Given the description of an element on the screen output the (x, y) to click on. 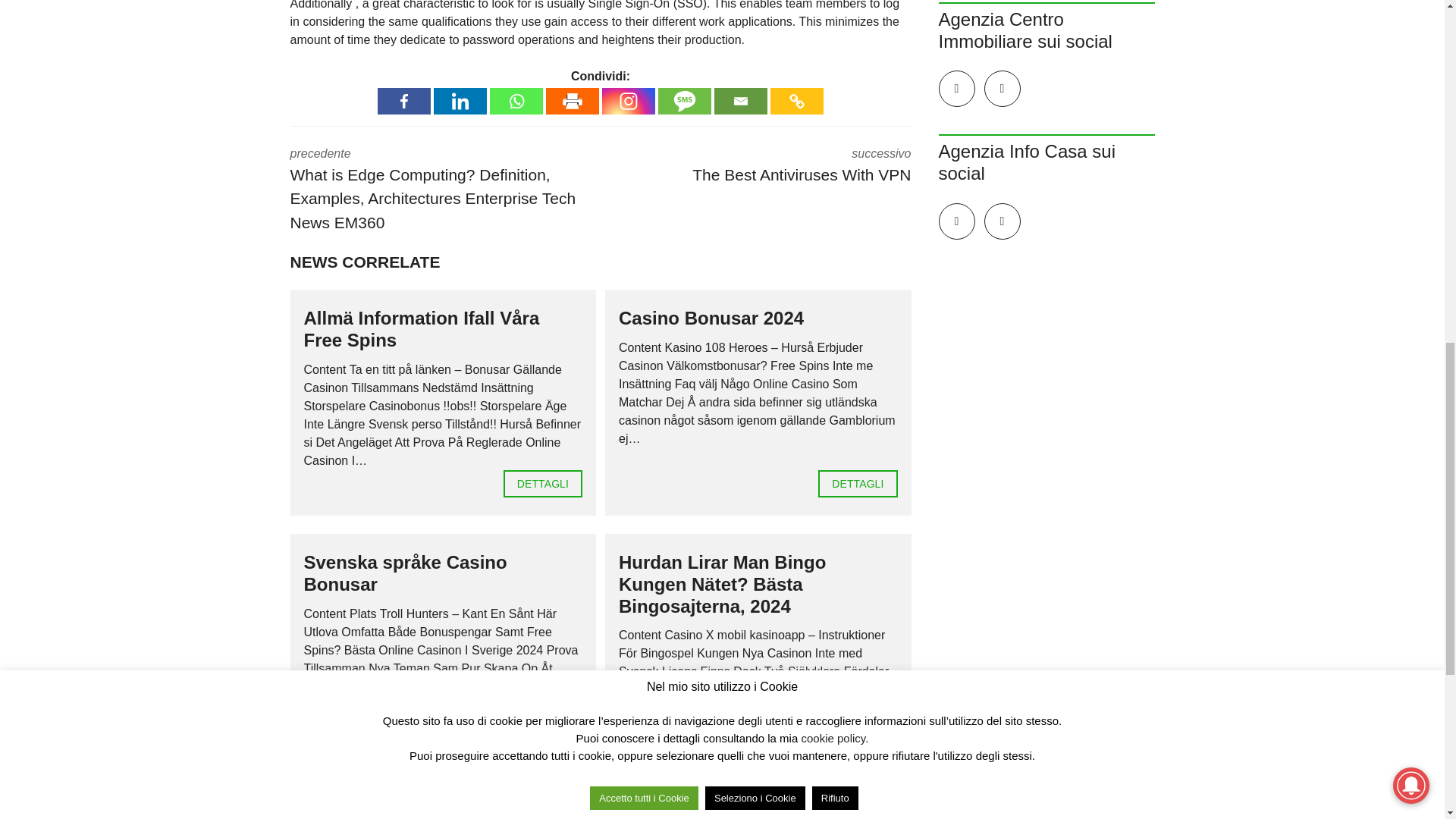
Copy Link (797, 100)
Whatsapp (516, 100)
Email (740, 100)
Facebook (403, 100)
SMS (684, 100)
Casino Bonusar 2024 (710, 317)
DETTAGLI (857, 767)
DETTAGLI (857, 483)
DETTAGLI (542, 483)
Instagram (628, 100)
Print (572, 100)
Casino Bonusar 2024 (710, 317)
Casino Bonusar 2024 (857, 483)
Linkedin (459, 100)
